Given the description of an element on the screen output the (x, y) to click on. 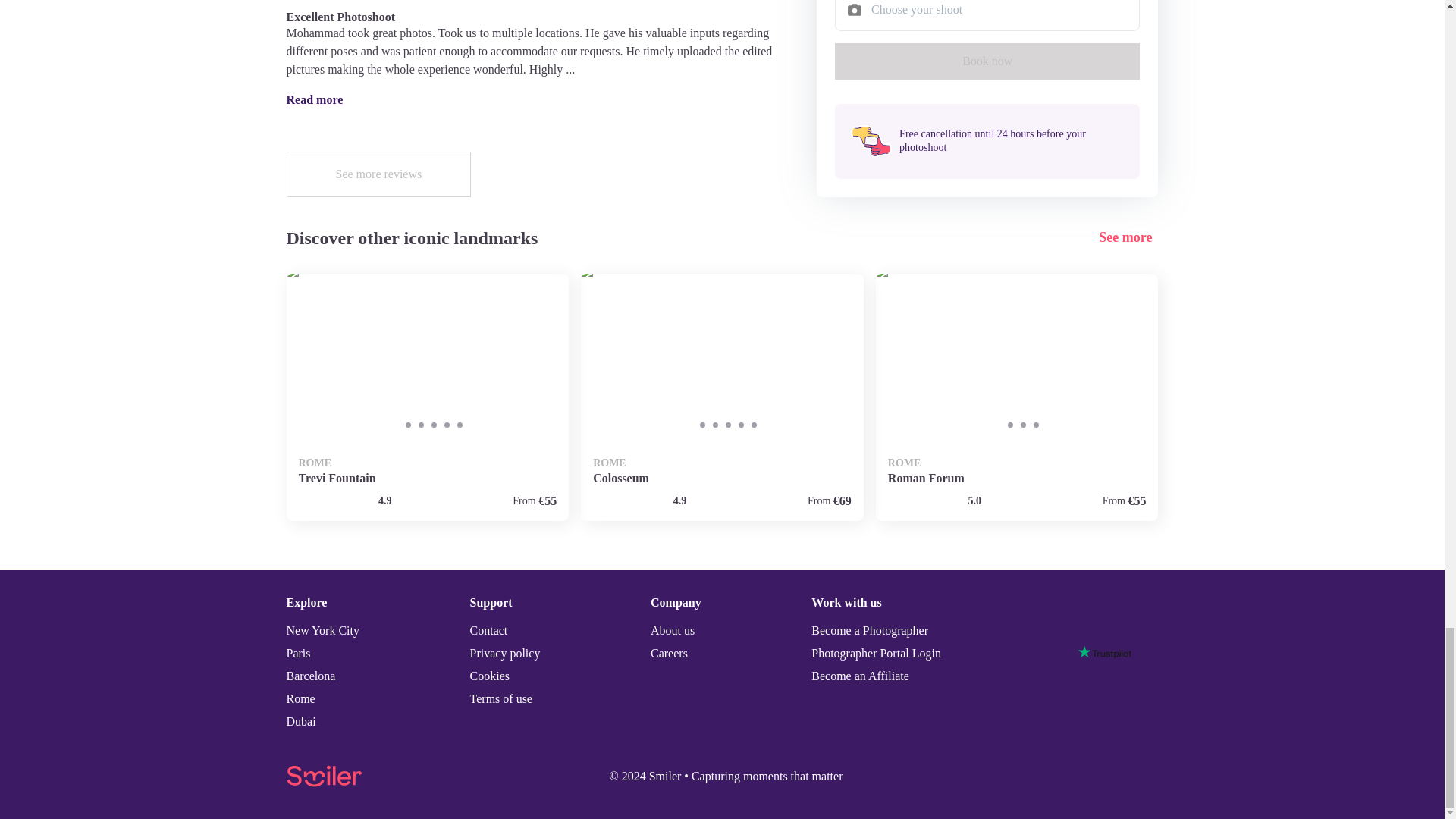
Rome (427, 396)
Customer reviews powered by Trustpilot (1104, 652)
Rome (721, 396)
See more (1128, 238)
Rome (1017, 396)
See more reviews (378, 174)
